Given the description of an element on the screen output the (x, y) to click on. 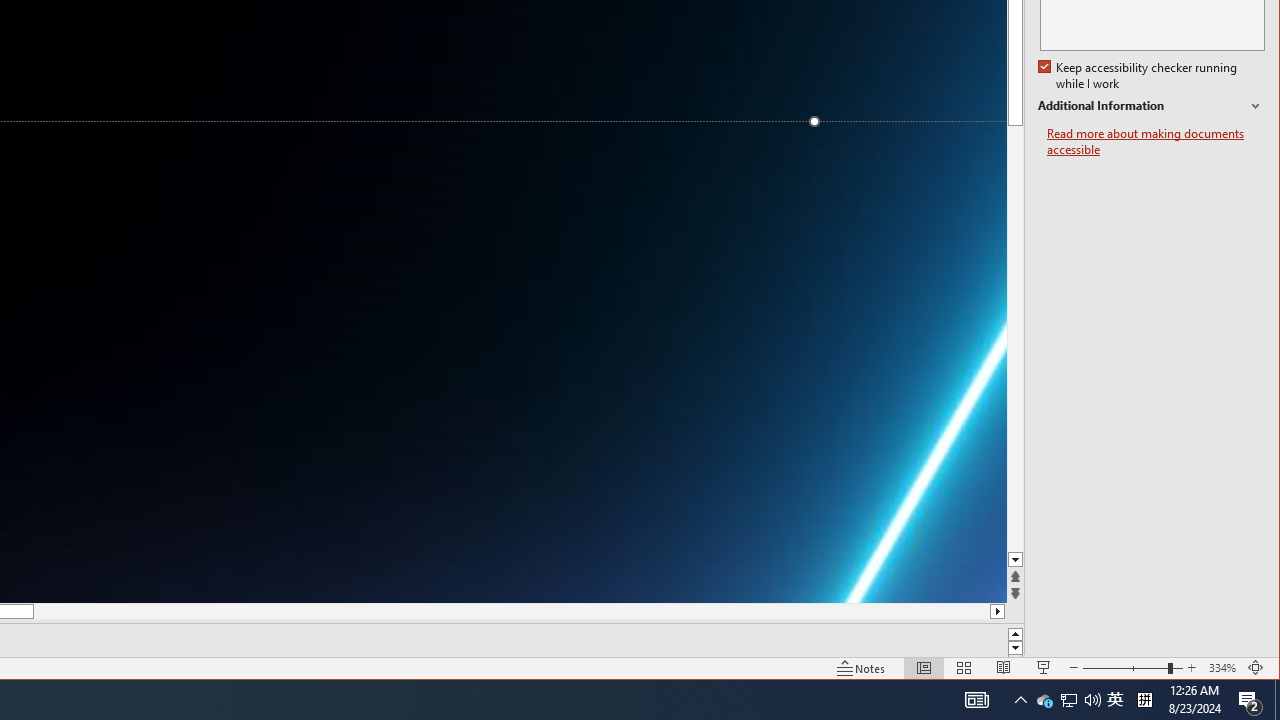
Zoom 334% (1222, 668)
